Given the description of an element on the screen output the (x, y) to click on. 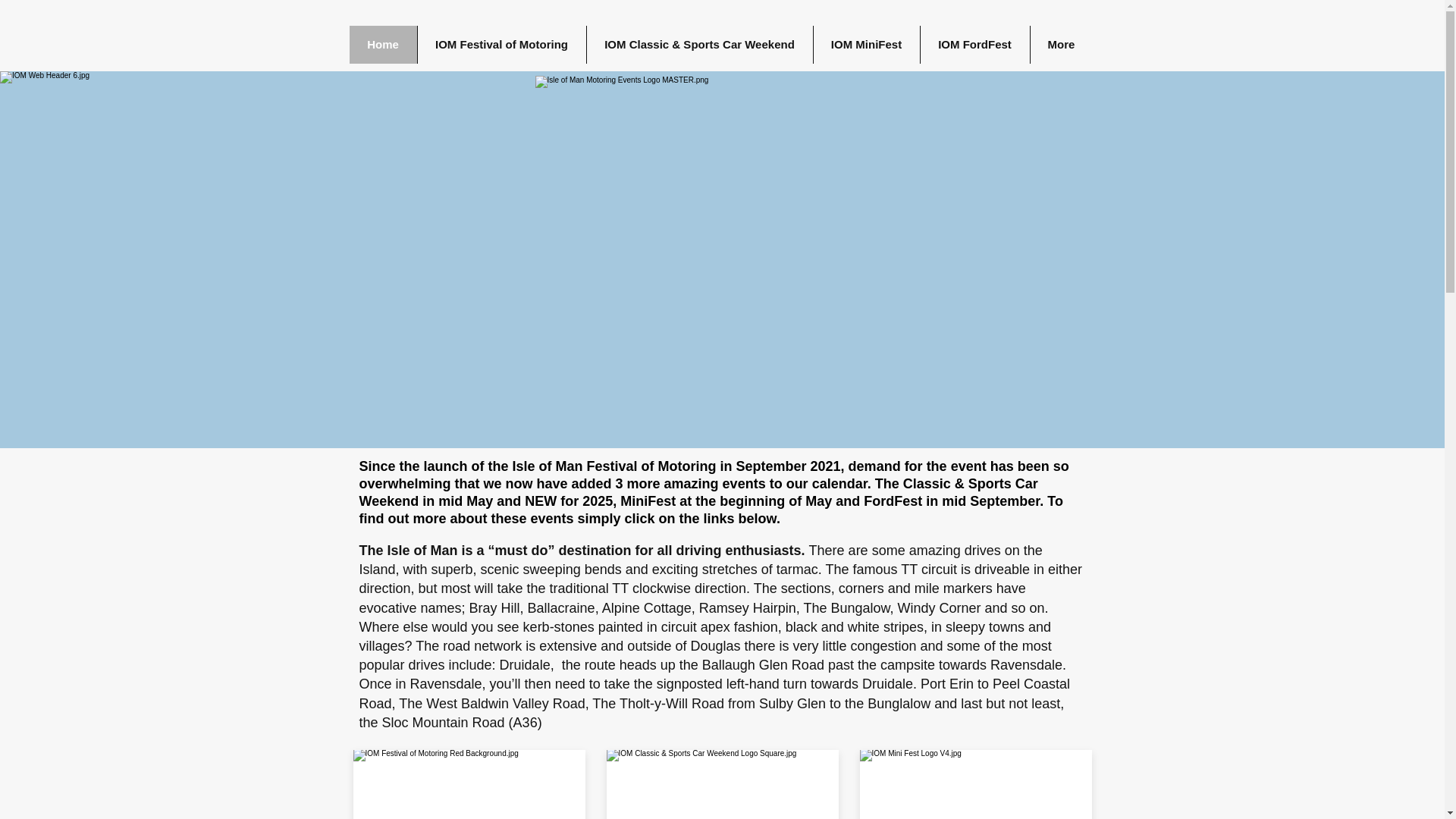
IOM FordFest (973, 44)
IOM Festival of Motoring (501, 44)
Home (382, 44)
IOM MiniFest (866, 44)
